Given the description of an element on the screen output the (x, y) to click on. 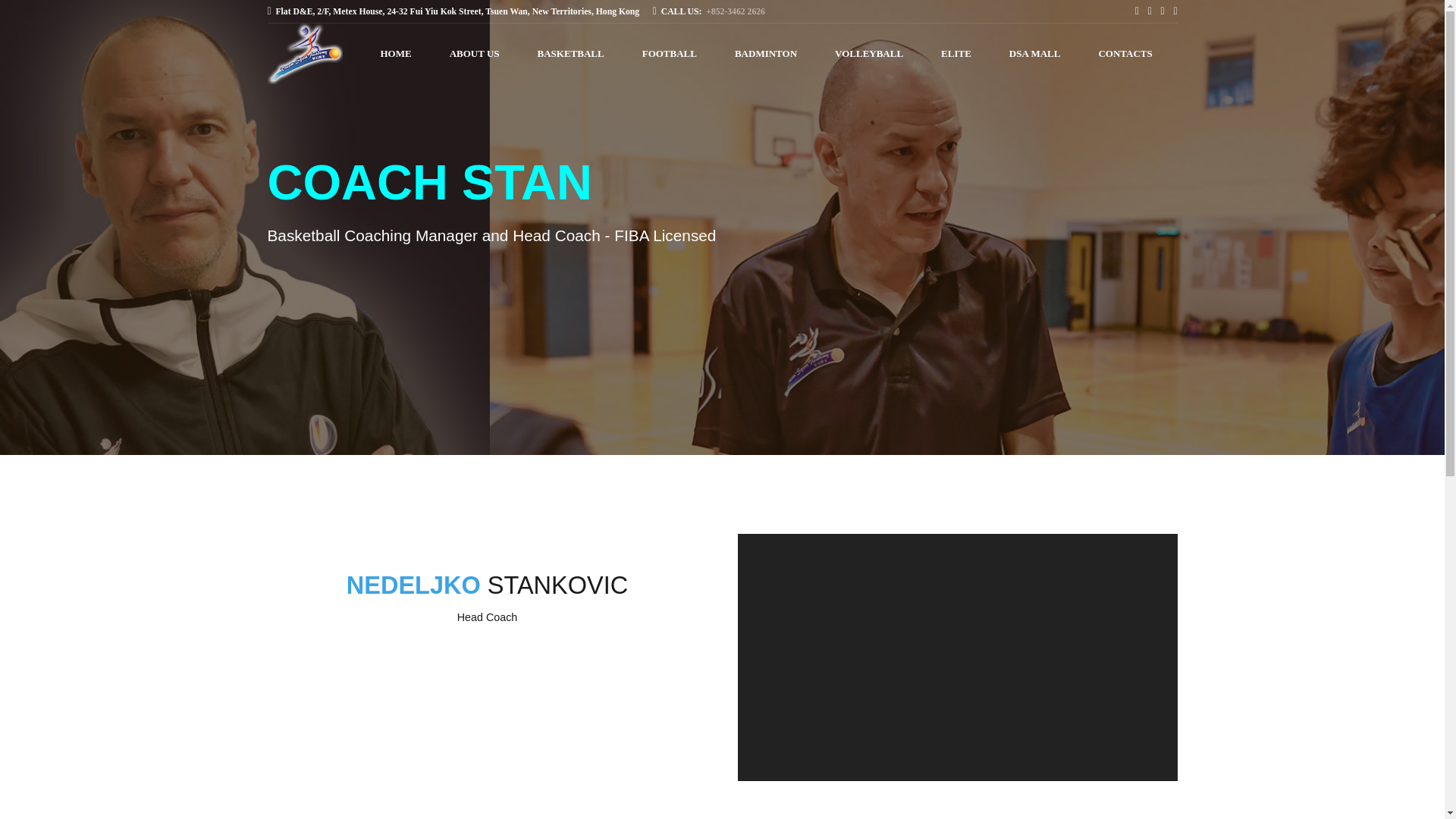
BASKETBALL (570, 53)
VOLLEYBALL (868, 53)
BADMINTON (765, 53)
HOME (396, 53)
ABOUT US (474, 53)
FOOTBALL (669, 53)
